Given the description of an element on the screen output the (x, y) to click on. 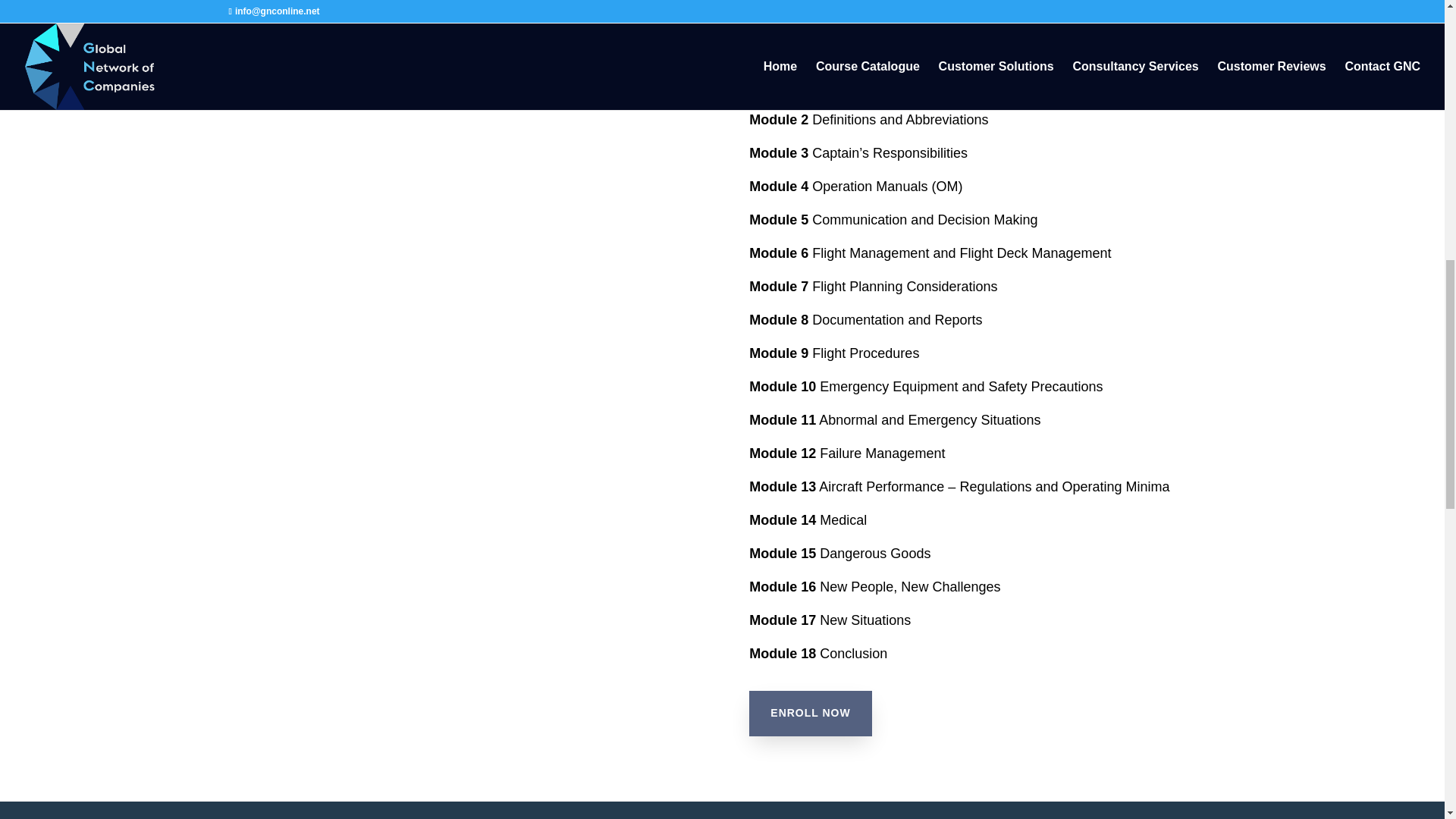
ENROLL NOW (809, 713)
